Given the description of an element on the screen output the (x, y) to click on. 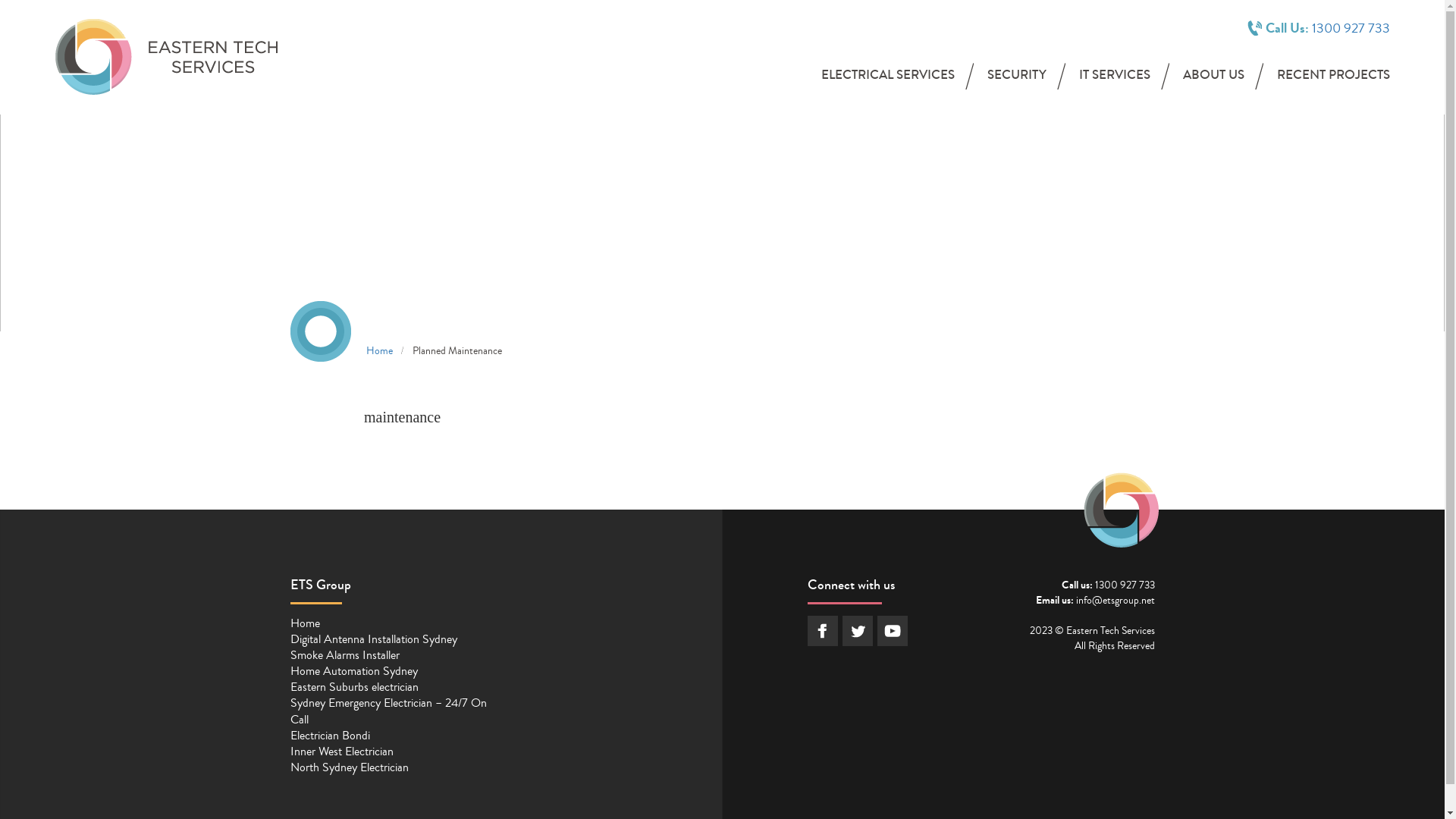
Inner West Electrician Element type: text (340, 751)
Home Element type: text (378, 350)
ABOUT US Element type: text (1213, 76)
1300 927 733 Element type: text (1350, 27)
Electrician Bondi Element type: text (329, 735)
Main Page Element type: hover (166, 56)
Eastern Suburbs electrician Element type: text (353, 686)
Youtube Element type: hover (892, 630)
SECURITY Element type: text (1016, 76)
Twitter Element type: hover (857, 630)
North Sydney Electrician Element type: text (348, 767)
info@etsgroup.net Element type: text (1114, 600)
IT SERVICES Element type: text (1114, 76)
Digital Antenna Installation Sydney Element type: text (372, 638)
Smoke Alarms Installer Element type: text (343, 654)
Home Automation Sydney Element type: text (353, 670)
1300 927 733 Element type: text (1124, 585)
Home Element type: text (304, 623)
RECENT PROJECTS Element type: text (1333, 76)
ELECTRICAL SERVICES Element type: text (887, 76)
Facebook Element type: hover (822, 630)
